Given the description of an element on the screen output the (x, y) to click on. 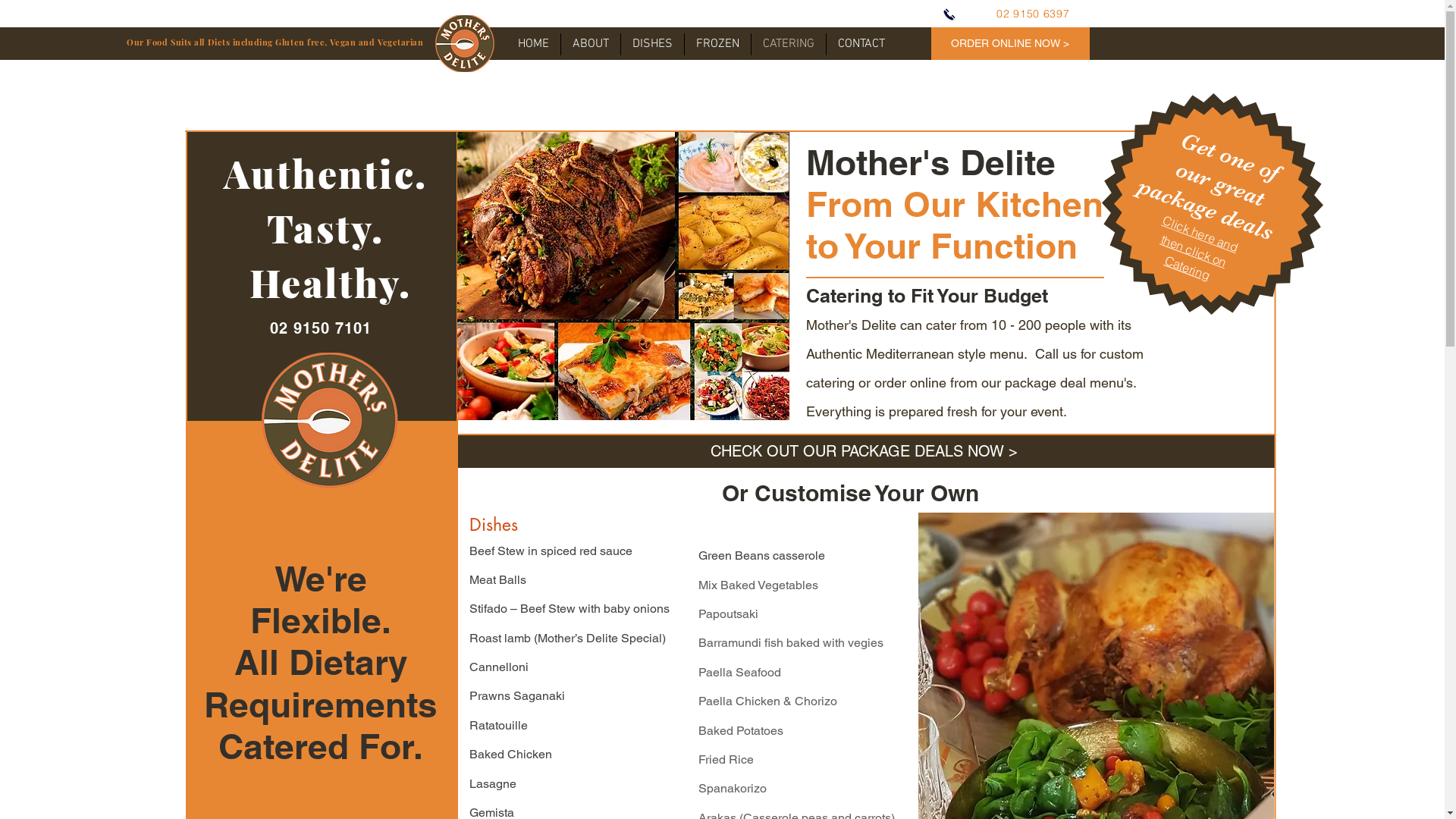
ABOUT Element type: text (590, 44)
CONTACT Element type: text (861, 44)
Click here and then click on Catering Element type: text (1196, 233)
CHECK OUT OUR PACKAGE DEALS NOW > Element type: text (863, 451)
CATERING Element type: text (787, 44)
HOME Element type: text (533, 44)
DISHES Element type: text (651, 44)
ORDER ONLINE NOW > Element type: text (1010, 43)
FROZEN Element type: text (716, 44)
